Given the description of an element on the screen output the (x, y) to click on. 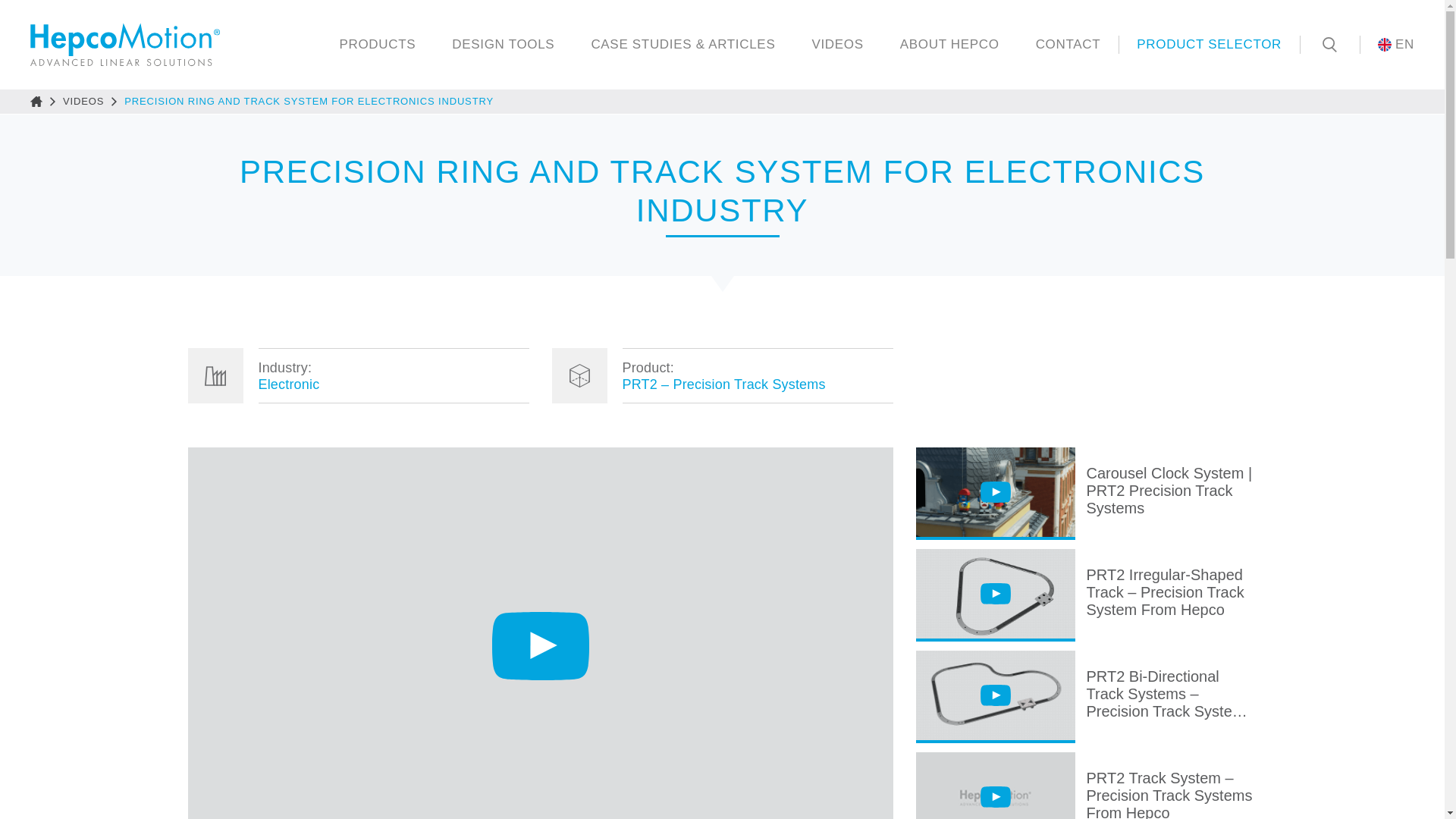
PRODUCTS (376, 44)
Home (36, 101)
